Given the description of an element on the screen output the (x, y) to click on. 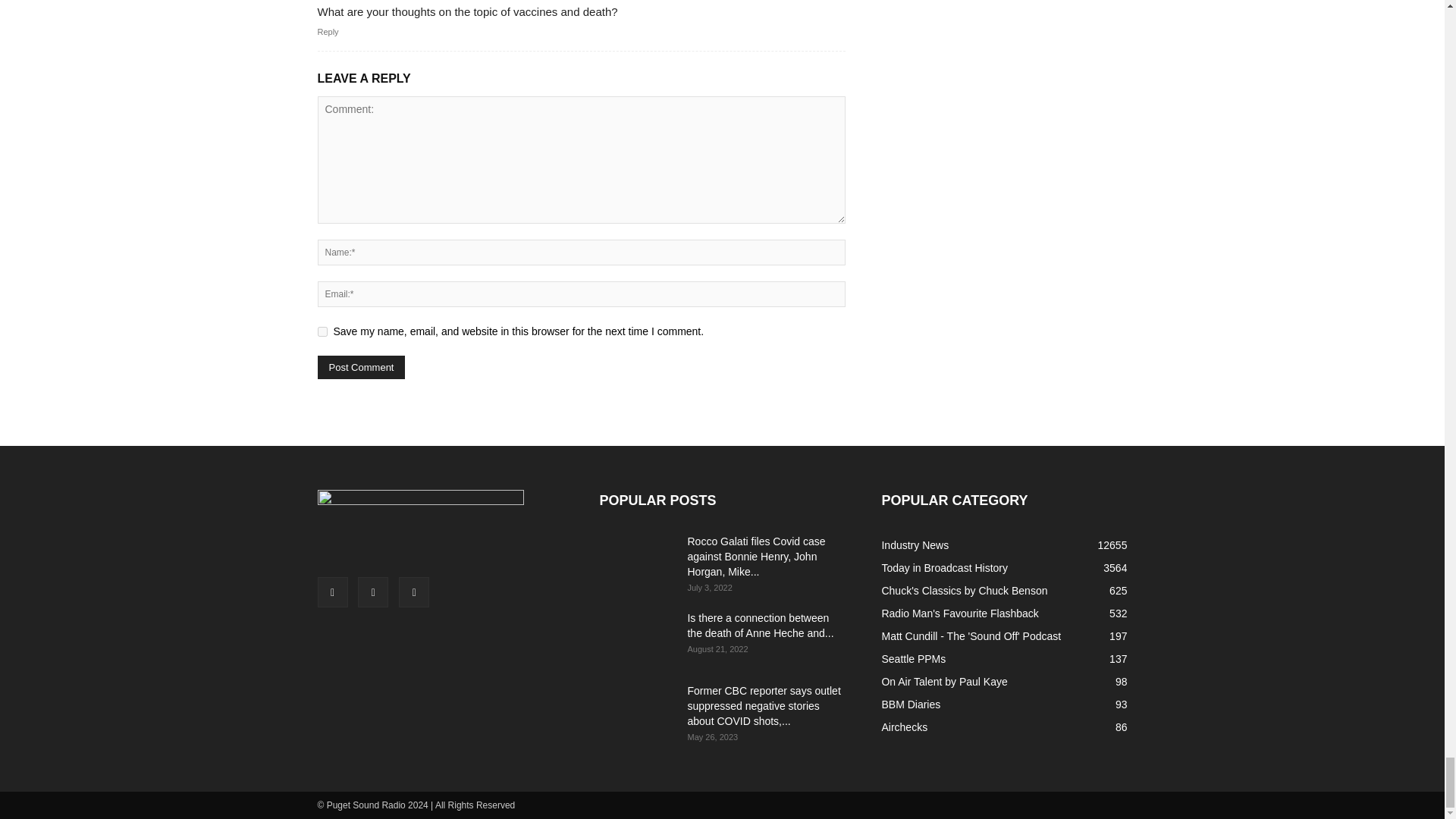
yes (321, 331)
Post Comment (360, 367)
